Given the description of an element on the screen output the (x, y) to click on. 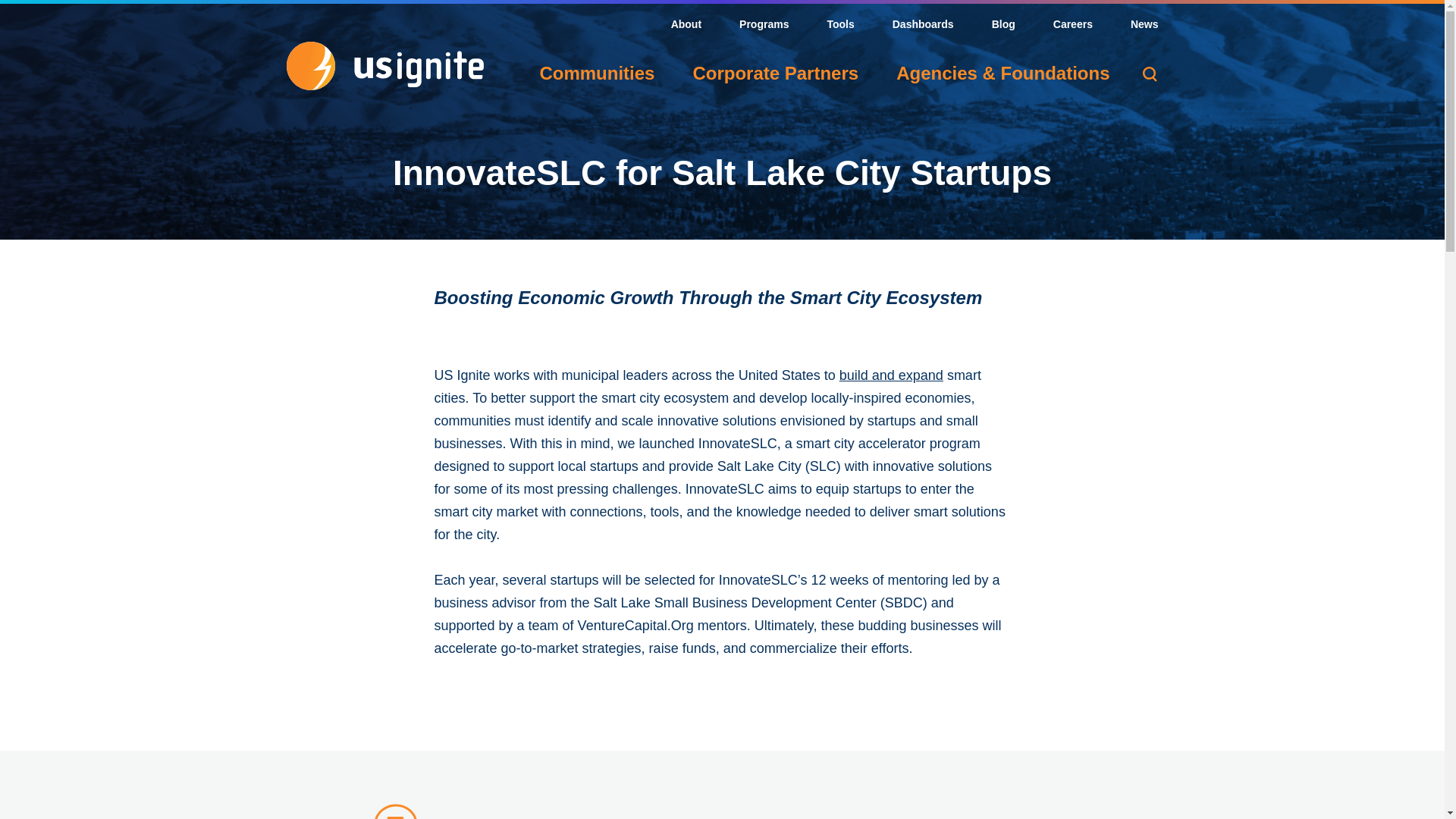
Programs (764, 25)
Communities (595, 73)
Tools (840, 25)
Dashboards (922, 25)
Blog (1002, 26)
build and expand (891, 375)
News (1144, 26)
Careers (1072, 26)
Corporate Partners (776, 73)
About (686, 26)
